Given the description of an element on the screen output the (x, y) to click on. 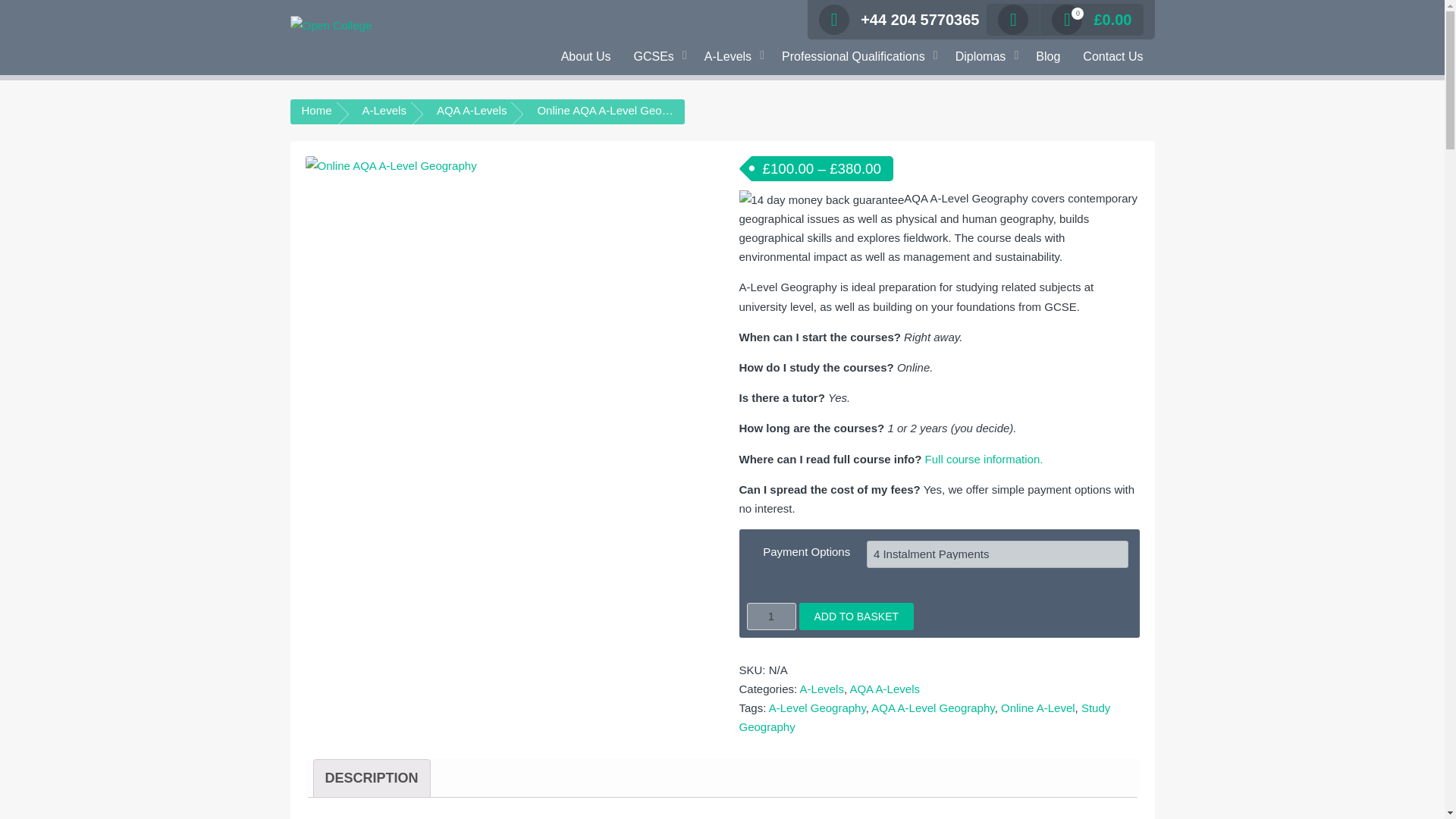
A-Levels (731, 57)
GCSEs (657, 57)
Professional Qualifications (856, 57)
Diplomas (984, 57)
Online AQA A-Level Geography (504, 289)
Login (894, 182)
1 (769, 615)
About Us (586, 57)
